Given the description of an element on the screen output the (x, y) to click on. 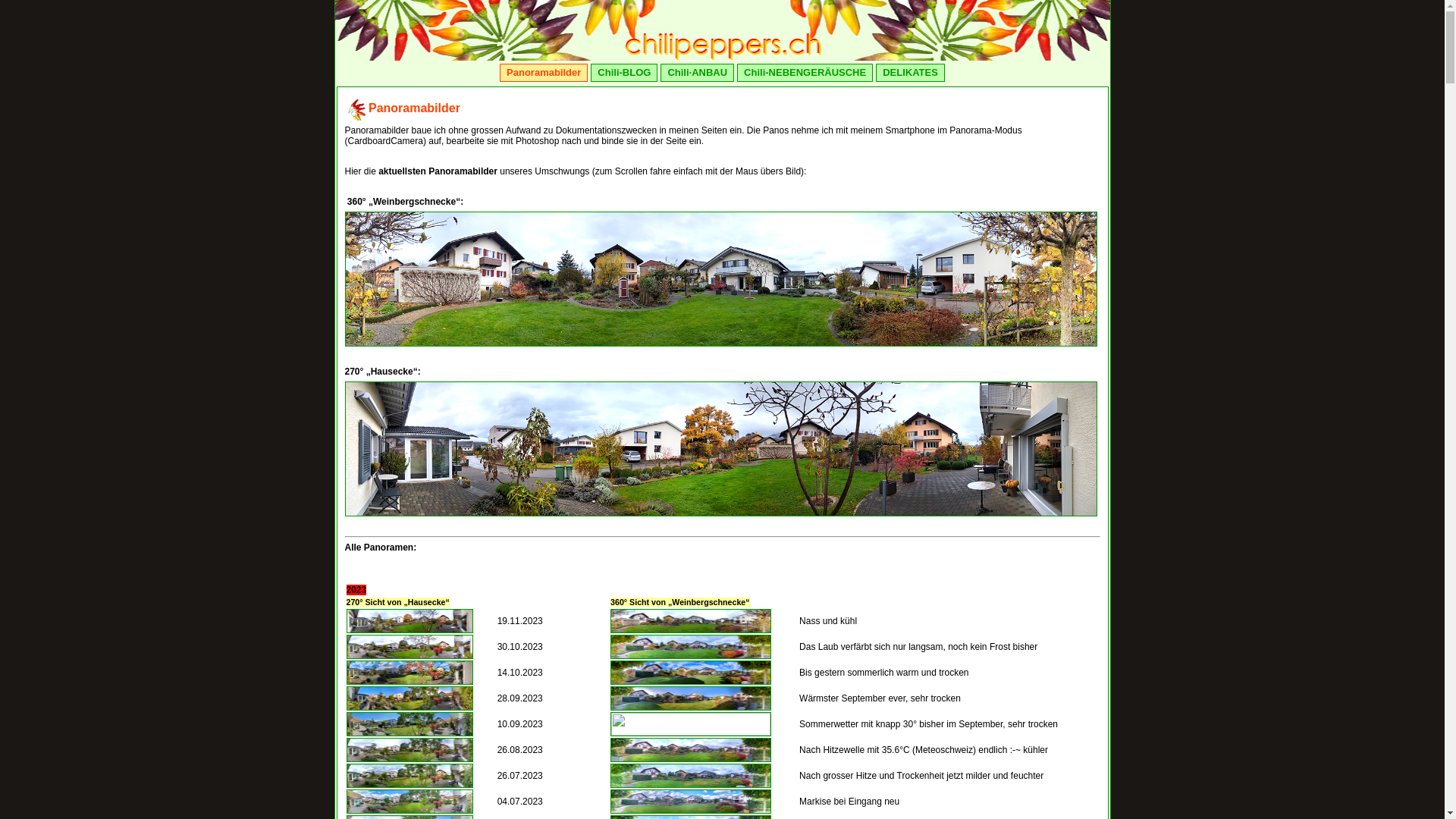
DELIKATES Element type: text (909, 72)
Panoramabilder Element type: text (414, 107)
Chili-BLOG Element type: text (623, 72)
Panoramabilder Element type: text (543, 72)
